Given the description of an element on the screen output the (x, y) to click on. 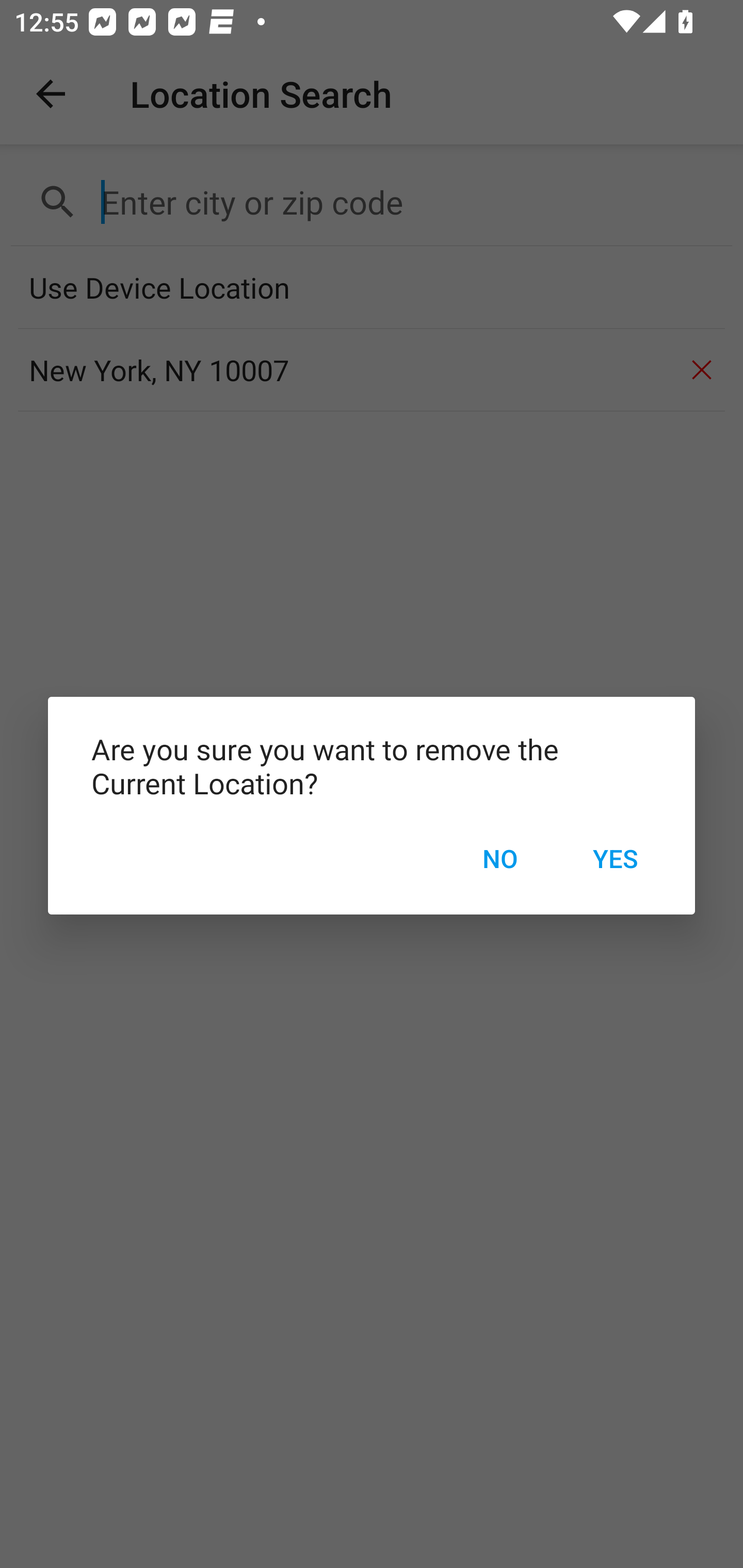
NO (499, 858)
YES (615, 858)
